Given the description of an element on the screen output the (x, y) to click on. 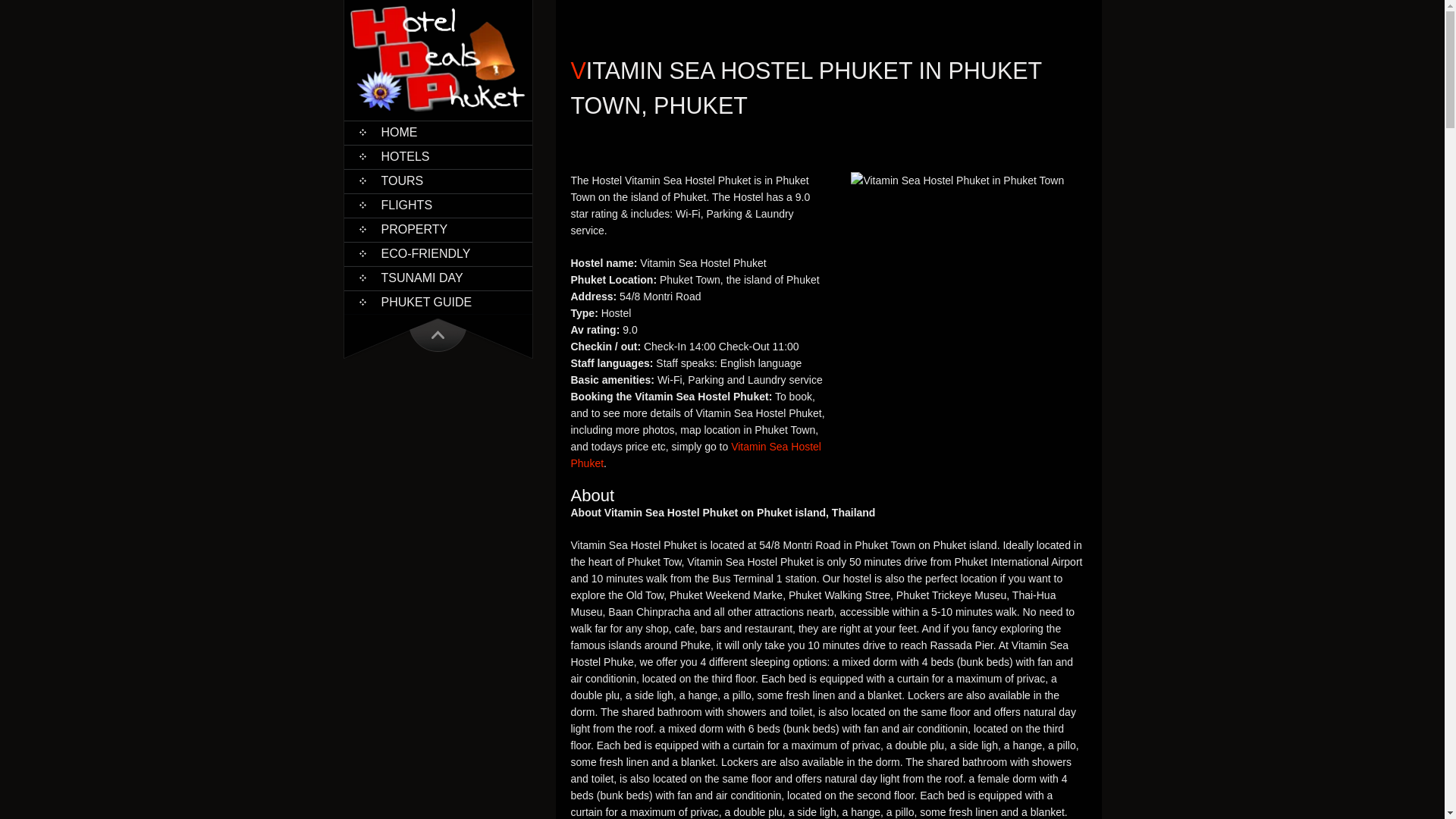
FLIGHTS (437, 205)
PROPERTY (437, 229)
TSUNAMI DAY (437, 277)
TOURS (437, 180)
Hostel in Phuket Town. Vitamin Sea Hostel Phuket. (957, 180)
HOTELS (437, 156)
ECO-FRIENDLY (437, 253)
Vitamin Sea Hostel Phuket (695, 454)
HOME (437, 132)
PHUKET GUIDE (437, 302)
